Given the description of an element on the screen output the (x, y) to click on. 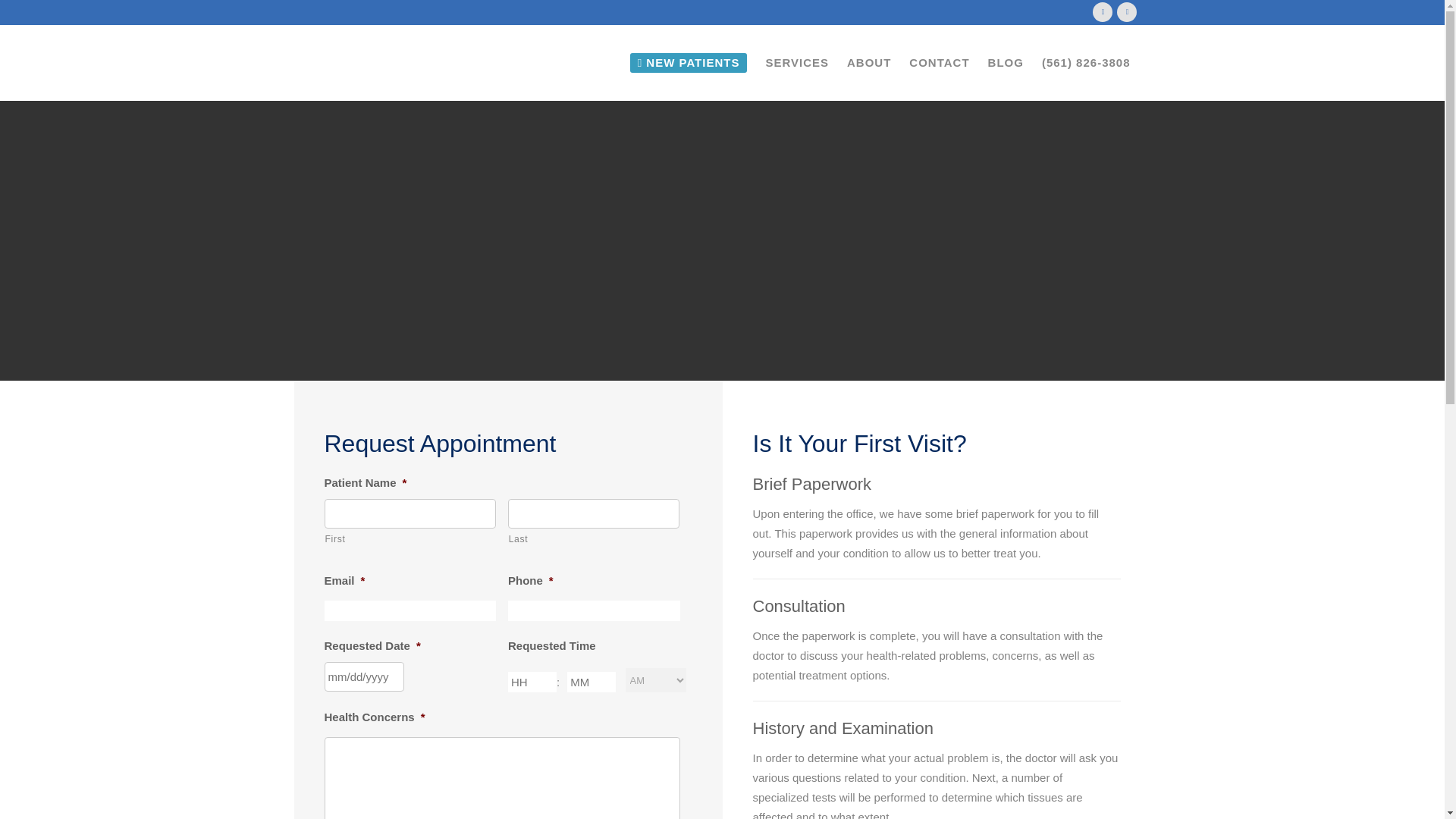
SERVICES (796, 62)
New Patients (689, 62)
NEW PATIENTS (689, 62)
